Given the description of an element on the screen output the (x, y) to click on. 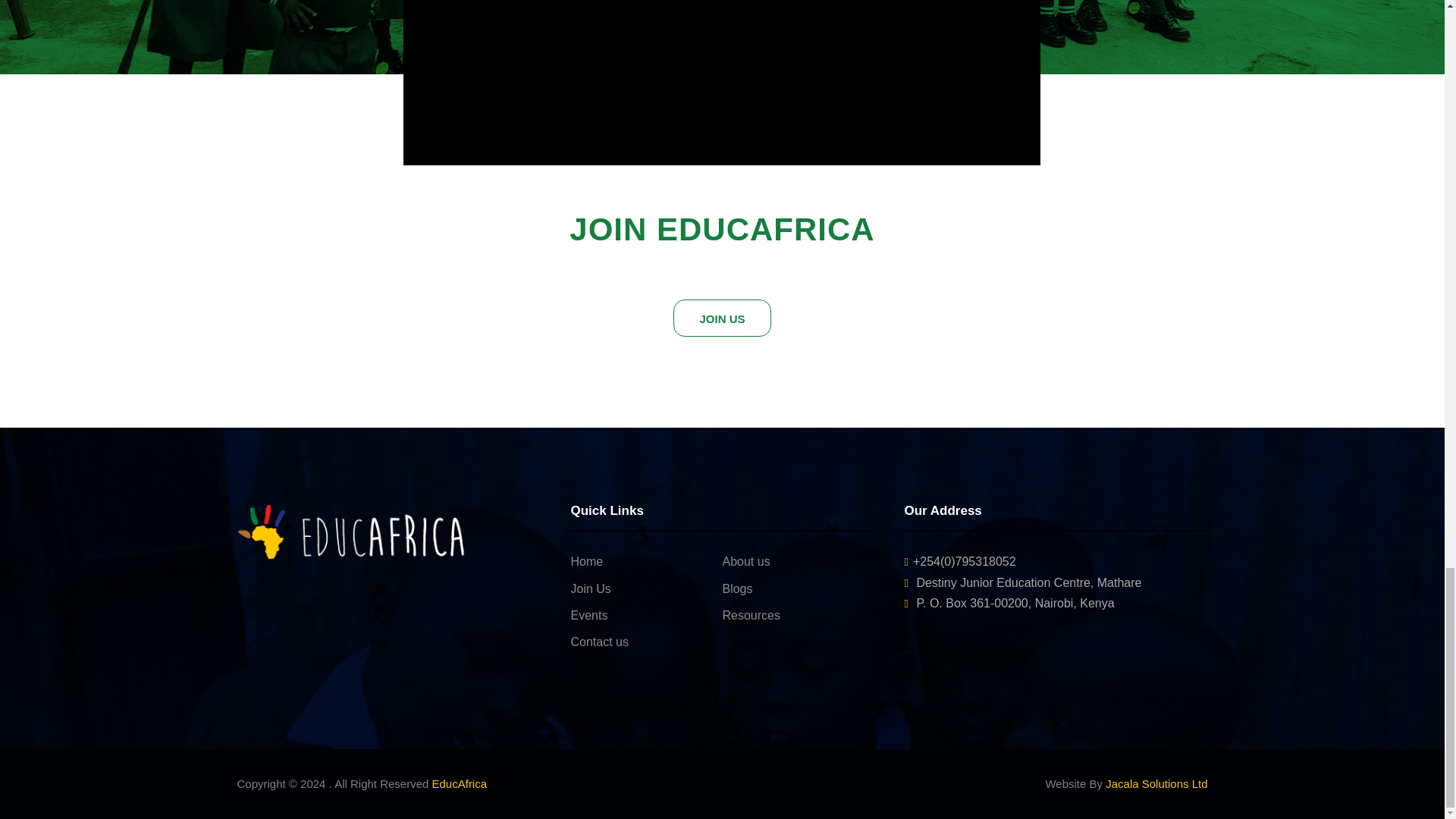
Contact us (598, 641)
JOIN US (721, 317)
Resources (750, 615)
Home (586, 561)
Blogs (737, 588)
EducAfrica (459, 783)
Join Us (590, 588)
Events (588, 615)
Jacala Solutions Ltd (1156, 783)
About us (746, 561)
